Given the description of an element on the screen output the (x, y) to click on. 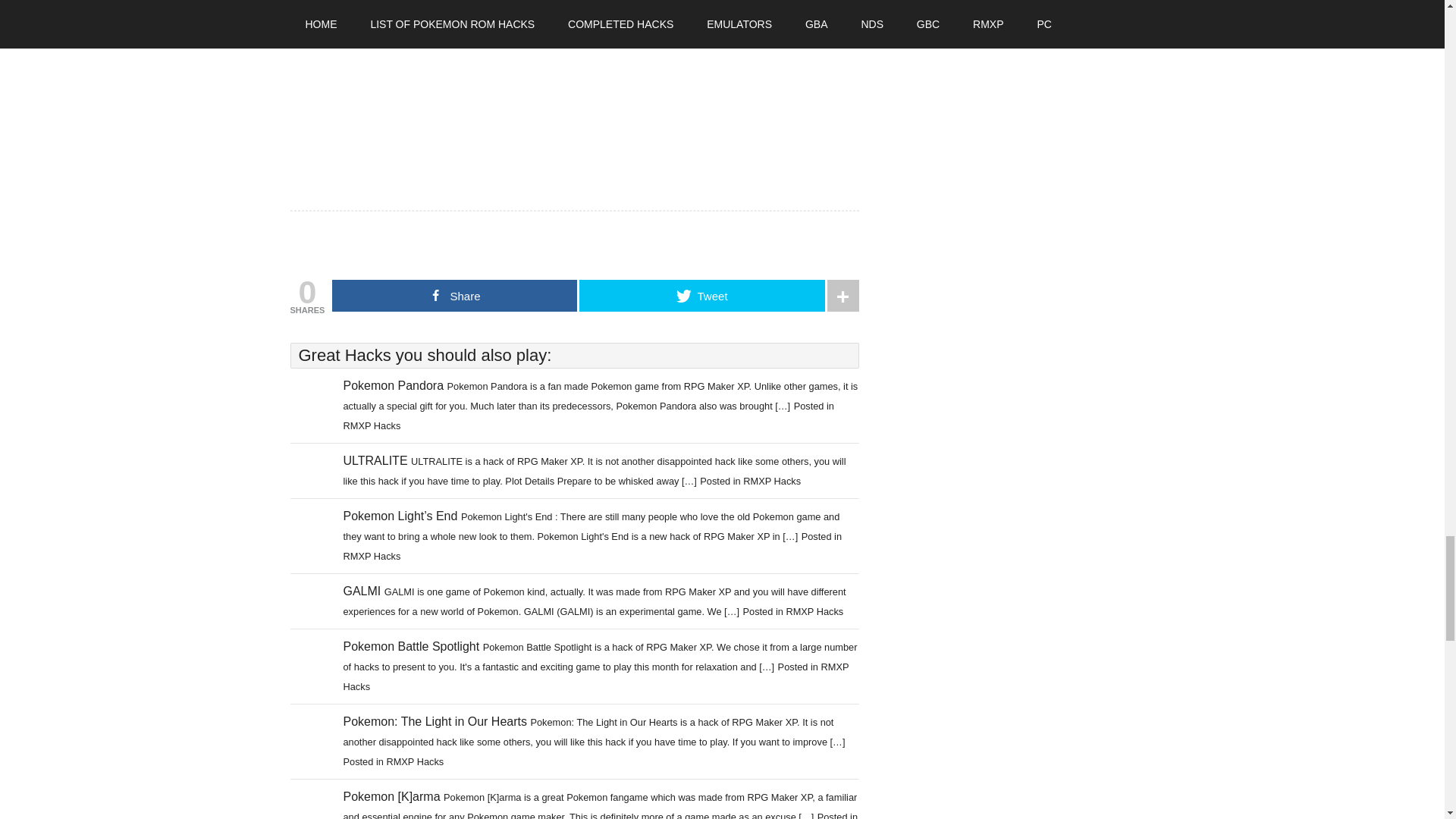
Pokemon Pandora (393, 385)
Share (453, 296)
RMXP Hacks (814, 611)
RMXP Hacks (371, 555)
Tweet (701, 296)
GALMI (361, 590)
RMXP Hacks (371, 425)
ULTRALITE (374, 460)
RMXP Hacks (771, 480)
